Given the description of an element on the screen output the (x, y) to click on. 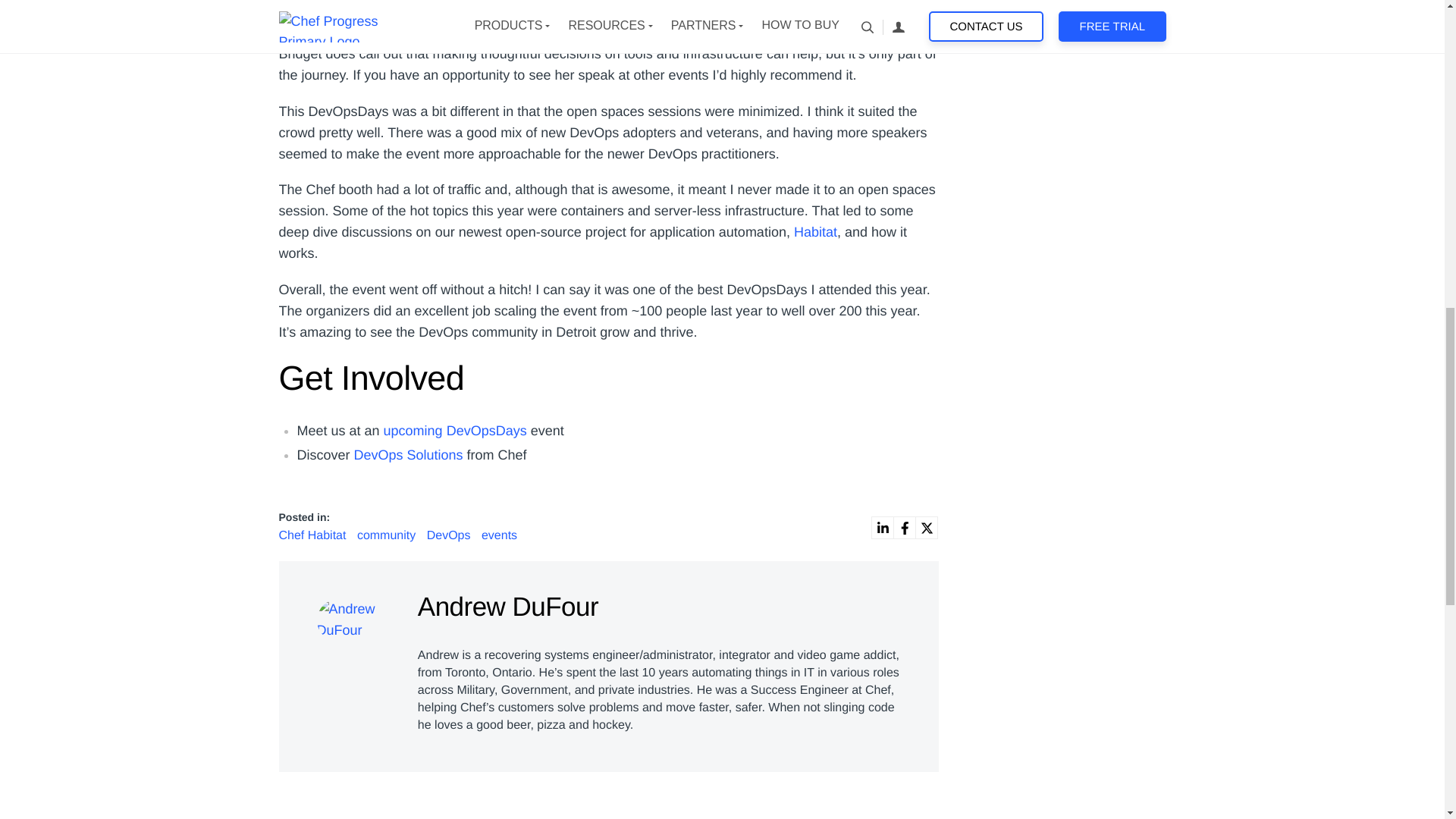
Chef Habitat (314, 535)
community (387, 535)
Andrew DuFour (355, 616)
events (498, 535)
DevOps (450, 535)
Andrew DuFour (355, 619)
